Given the description of an element on the screen output the (x, y) to click on. 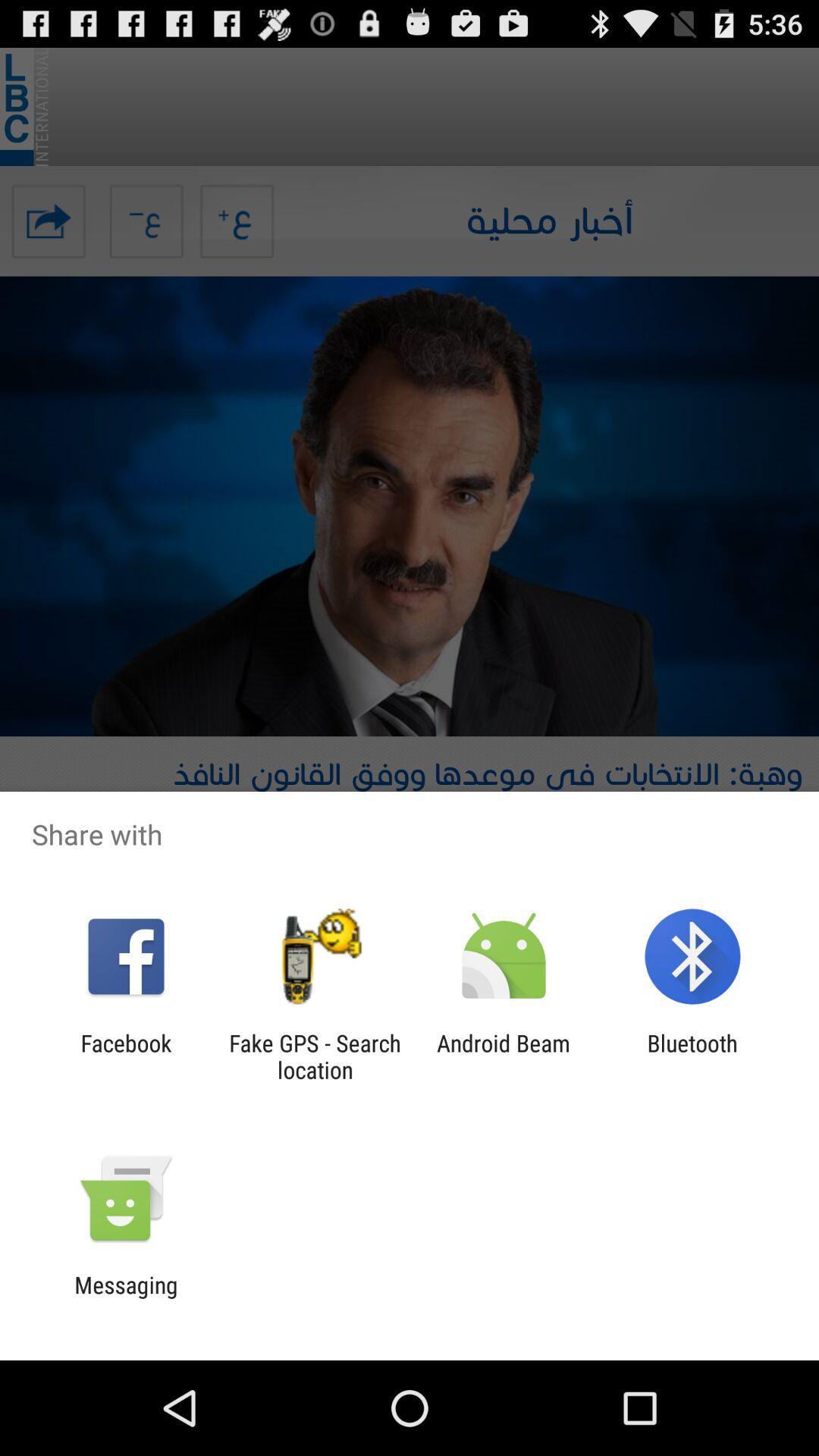
jump to messaging item (126, 1298)
